Given the description of an element on the screen output the (x, y) to click on. 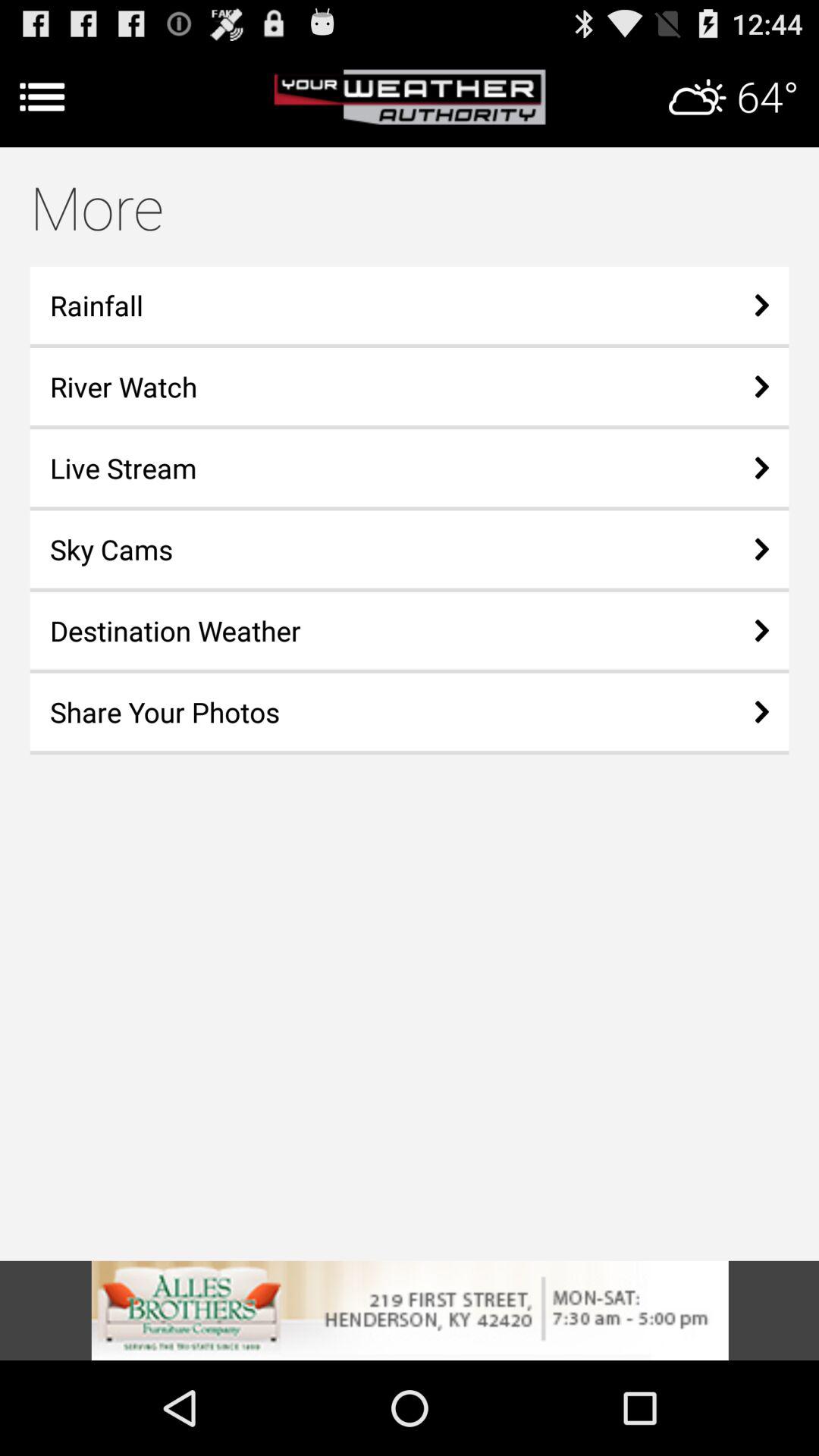
turn off the icon at the bottom (409, 1310)
